Given the description of an element on the screen output the (x, y) to click on. 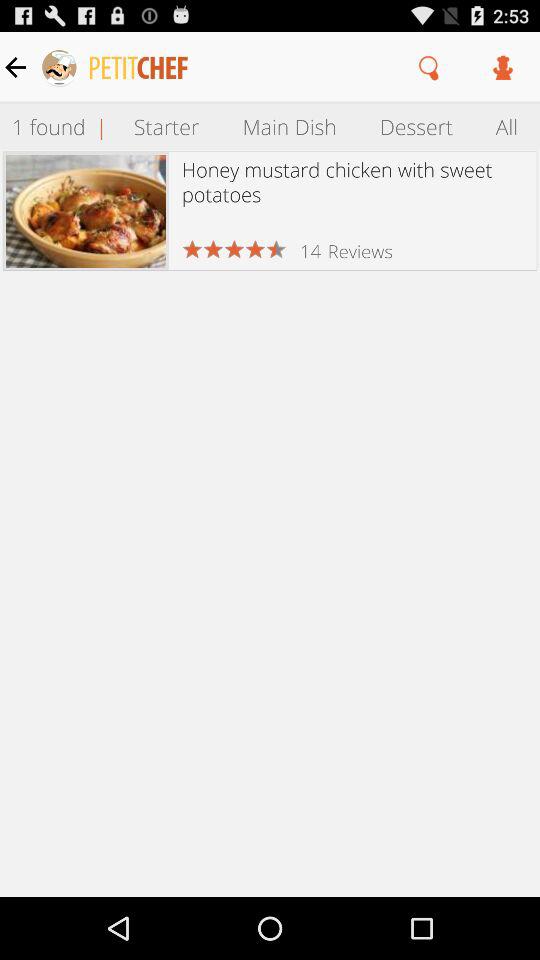
launch item above honey mustard chicken item (289, 126)
